Given the description of an element on the screen output the (x, y) to click on. 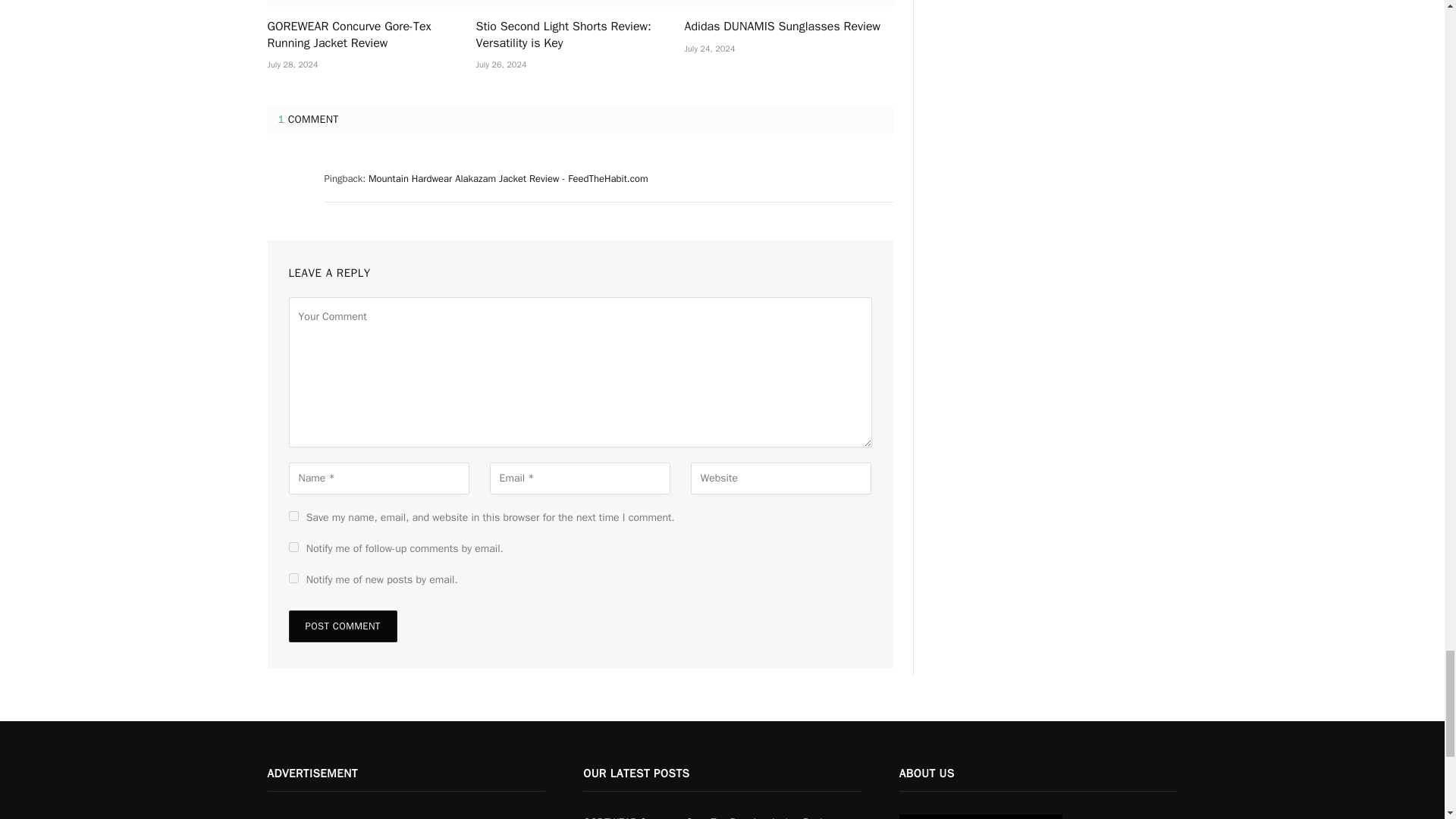
yes (293, 515)
subscribe (293, 547)
Post Comment (342, 626)
subscribe (293, 578)
